Given the description of an element on the screen output the (x, y) to click on. 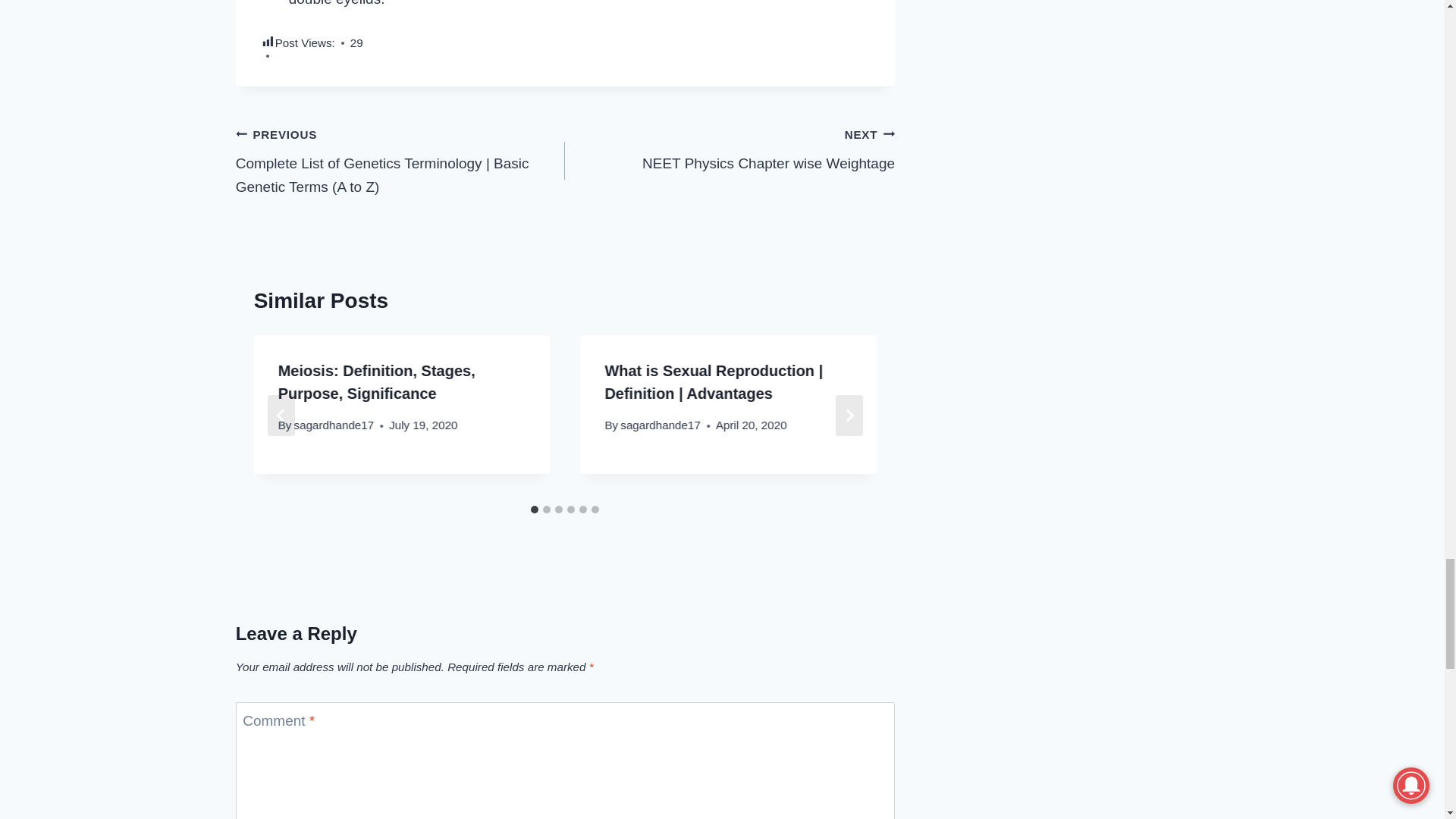
sagardhande17 (334, 424)
Meiosis: Definition, Stages, Purpose, Significance (729, 149)
